Given the description of an element on the screen output the (x, y) to click on. 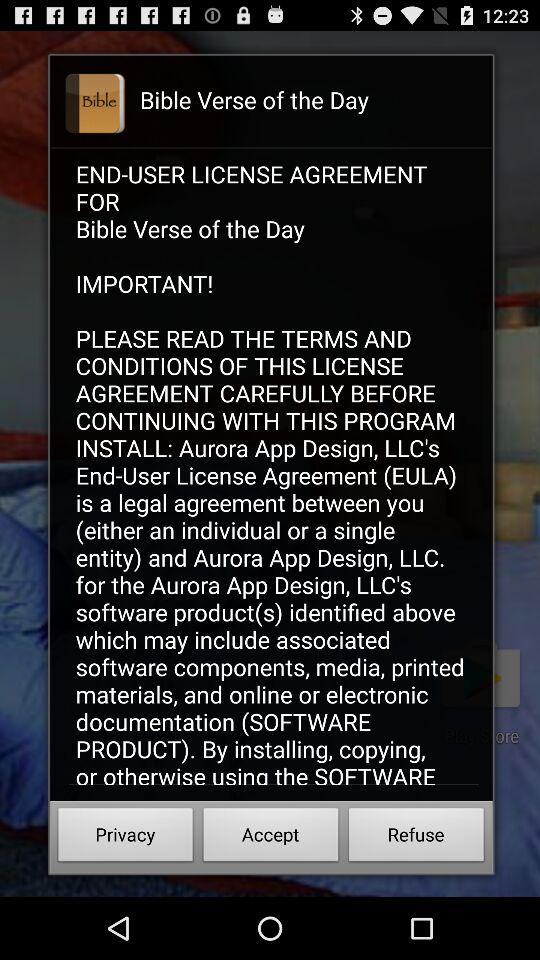
tap the privacy item (125, 837)
